Given the description of an element on the screen output the (x, y) to click on. 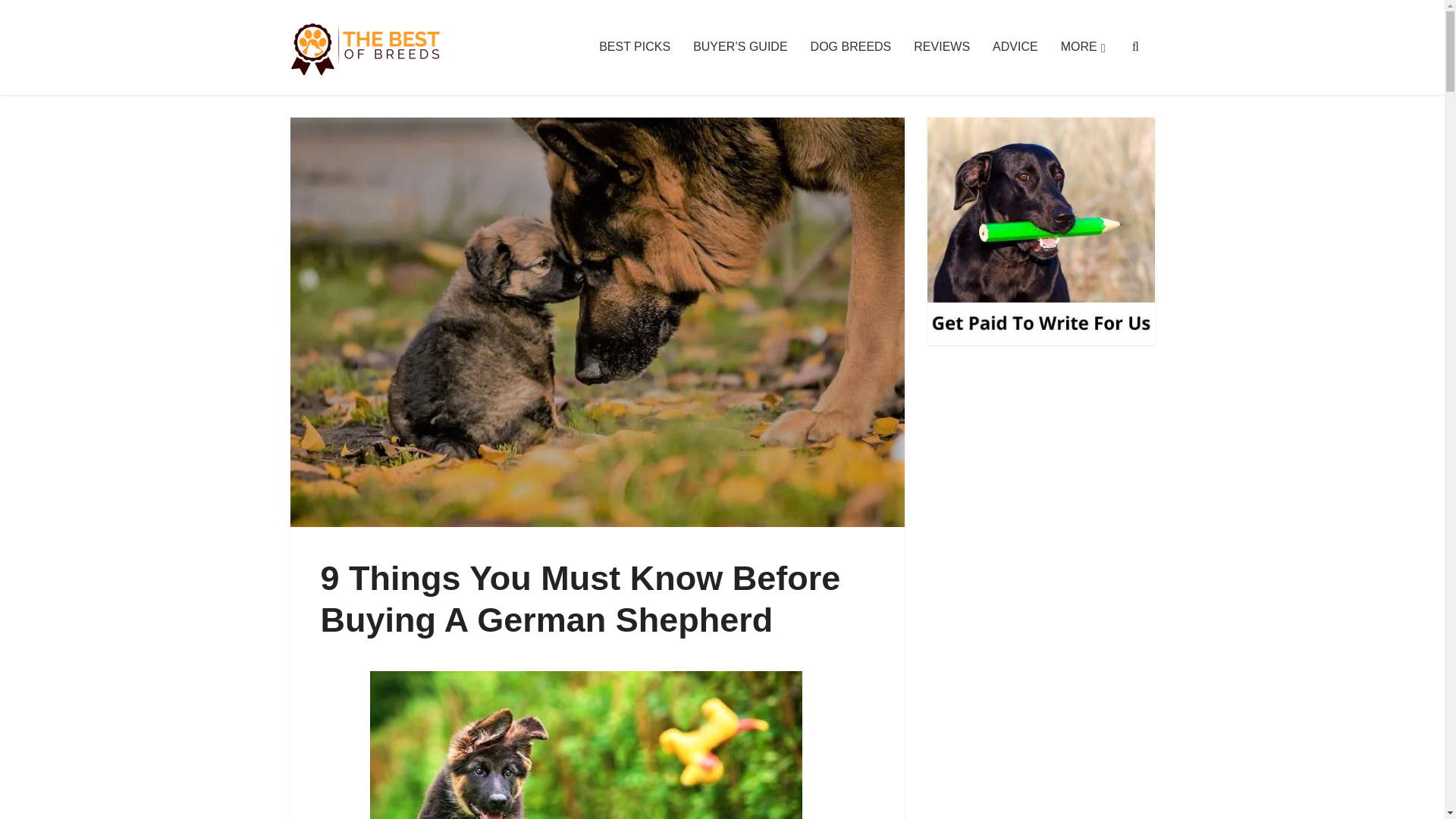
BEST PICKS (634, 47)
DOG BREEDS (850, 47)
